Given the description of an element on the screen output the (x, y) to click on. 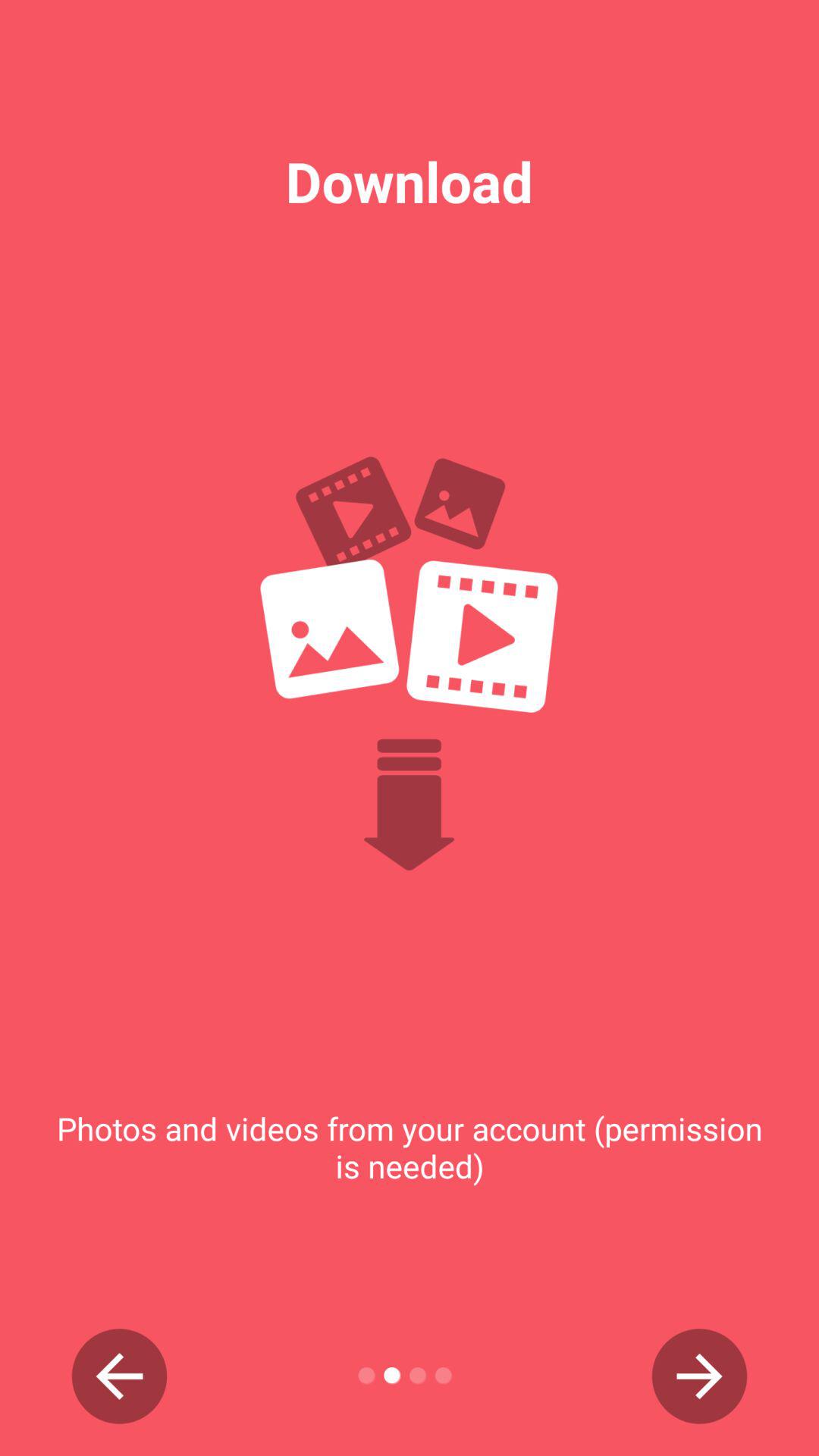
turn off item at the bottom right corner (699, 1376)
